Given the description of an element on the screen output the (x, y) to click on. 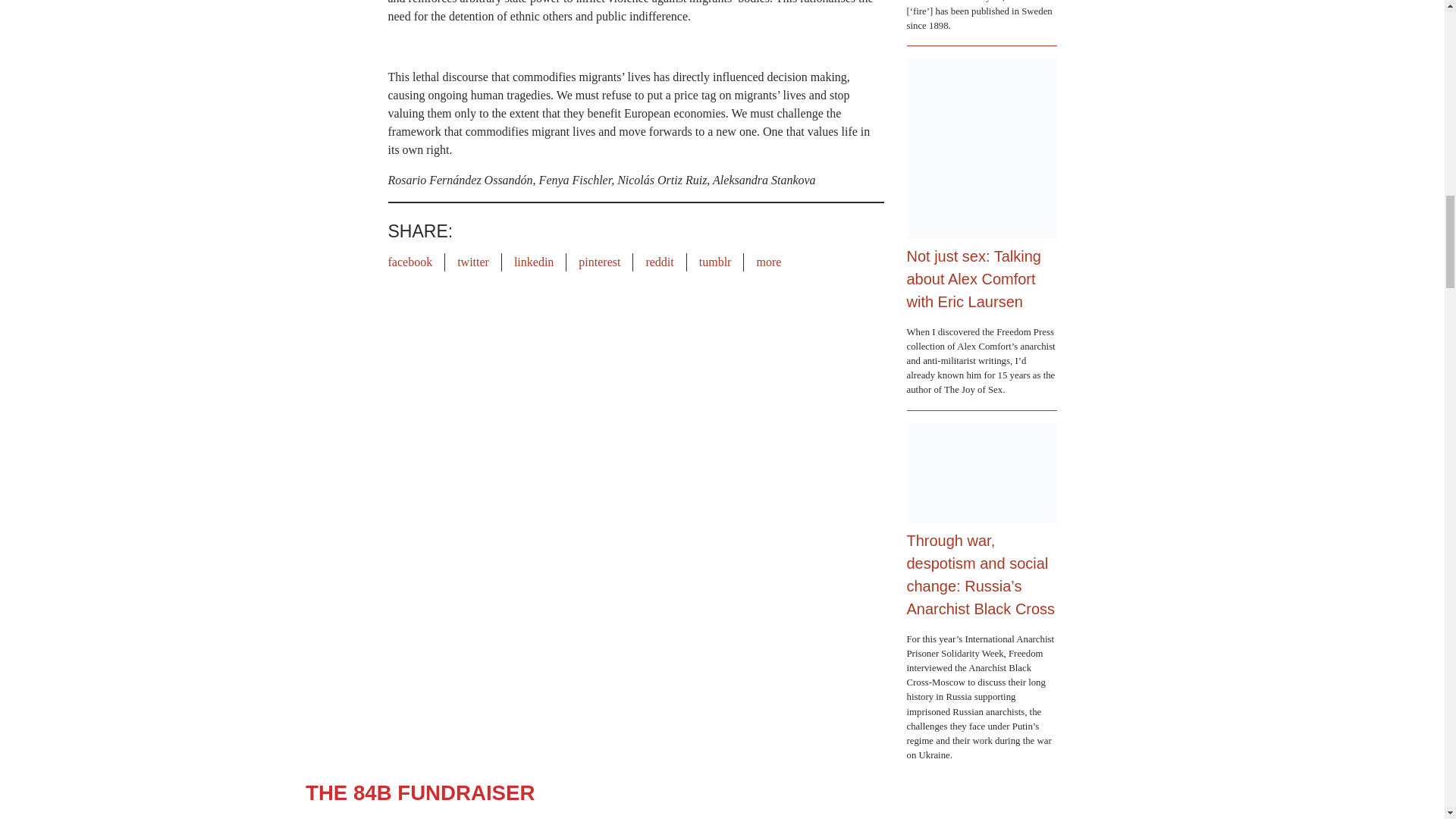
more (767, 261)
reddit (658, 261)
Click to share on Facebook (410, 261)
tumblr (715, 261)
pinterest (599, 261)
linkedin (533, 261)
facebook (410, 261)
twitter (473, 261)
